Given the description of an element on the screen output the (x, y) to click on. 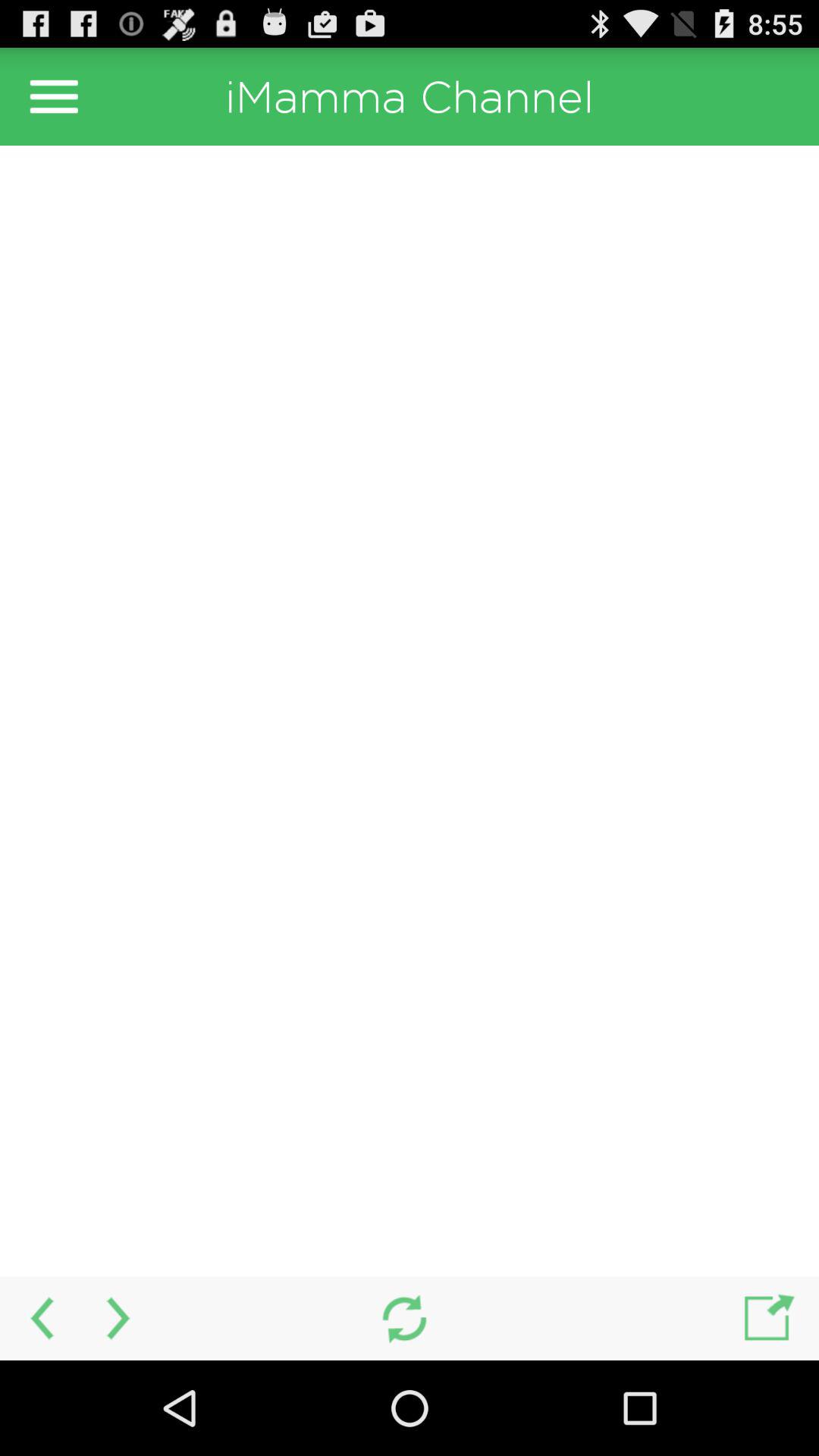
forward button (120, 1318)
